Given the description of an element on the screen output the (x, y) to click on. 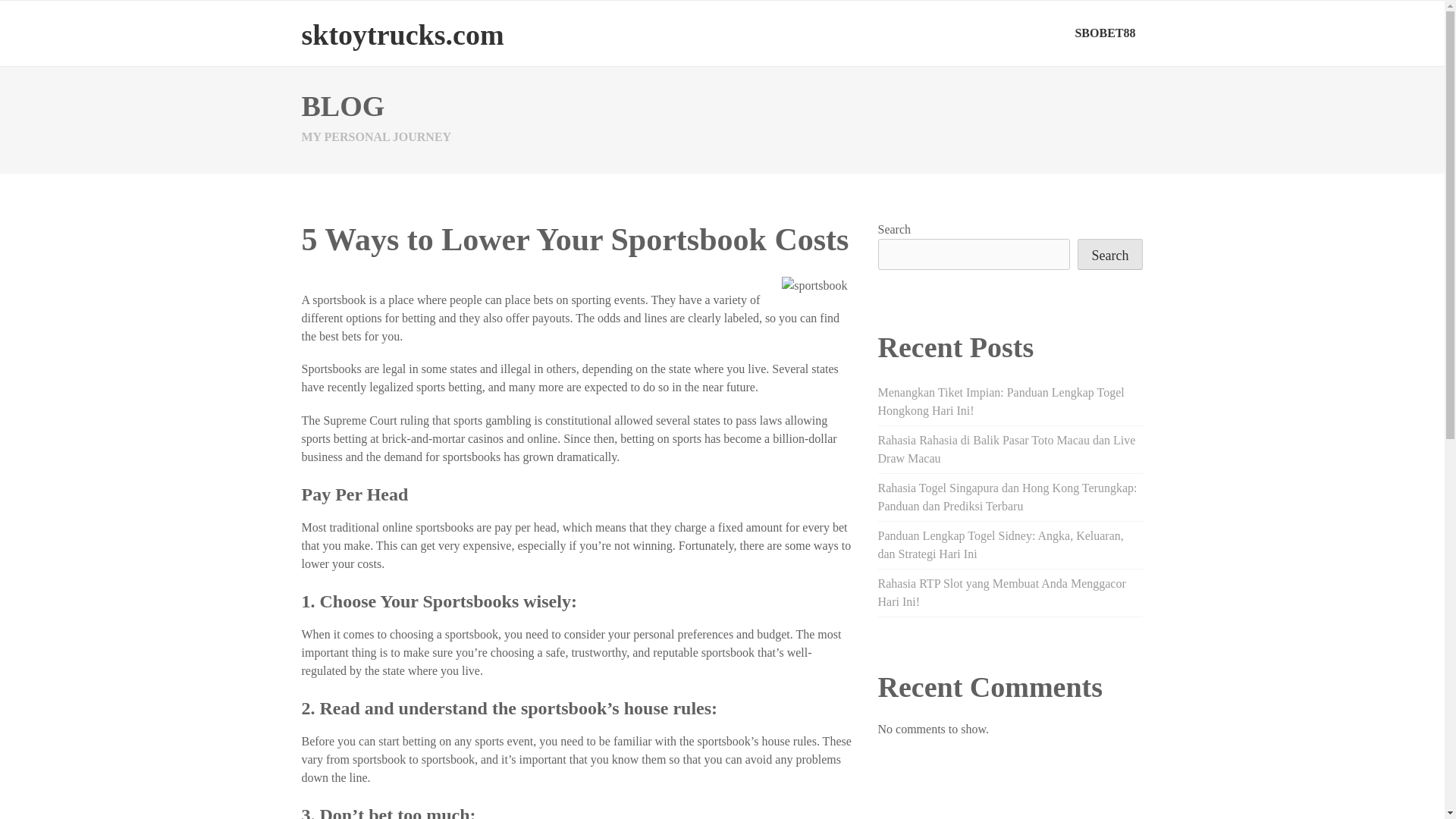
sktoytrucks.com (402, 34)
Rahasia RTP Slot yang Membuat Anda Menggacor Hari Ini! (1001, 592)
SBOBET88 (1104, 33)
Search (1109, 254)
